Given the description of an element on the screen output the (x, y) to click on. 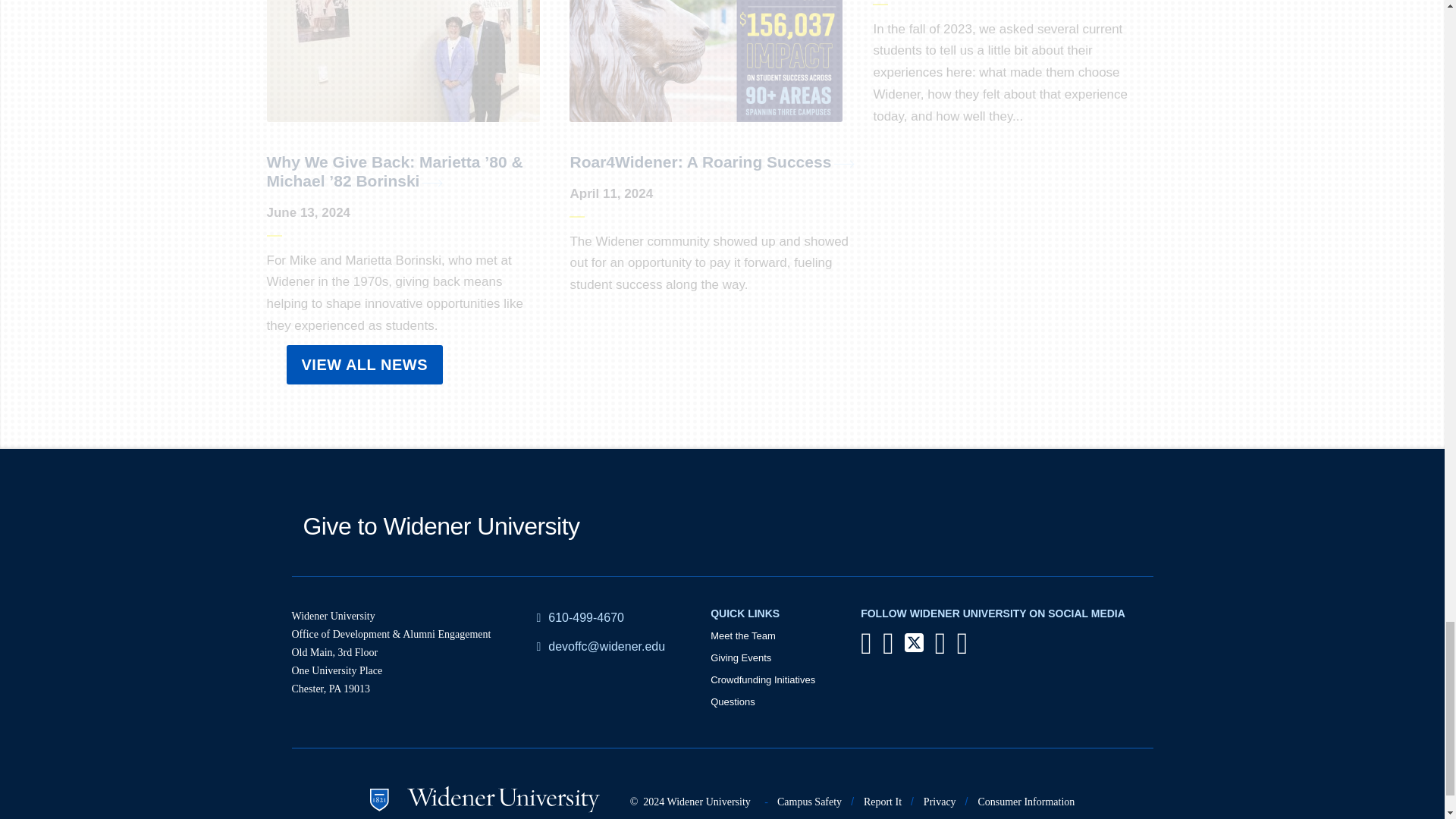
Give to Widener University (440, 526)
VIEW ALL NEWS (365, 364)
Roar4Widener: A Roaring Success (700, 161)
Questions (732, 701)
Meet the Team (743, 635)
Giving Events (740, 657)
Crowdfunding Initiatives (762, 679)
